Given the description of an element on the screen output the (x, y) to click on. 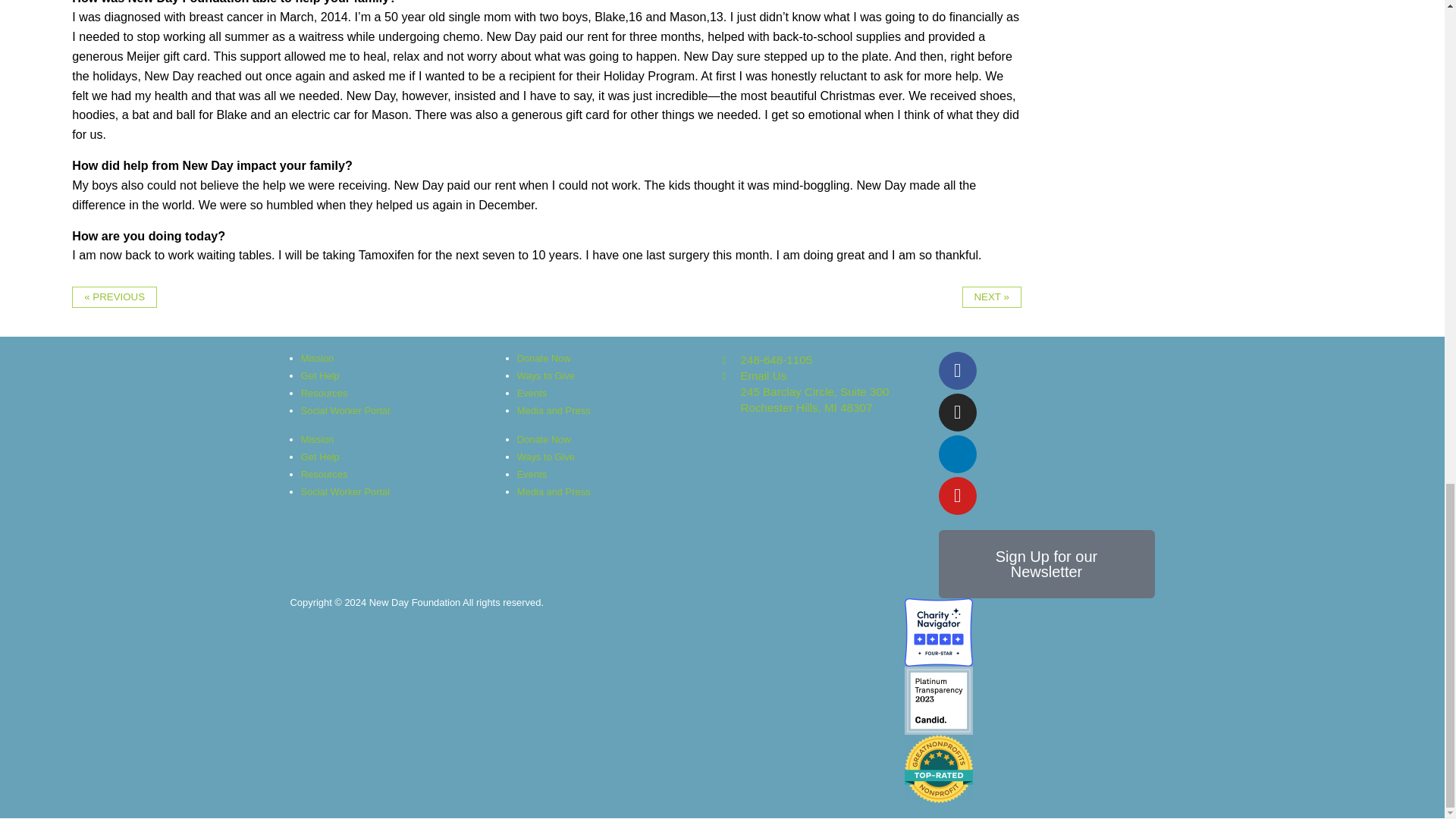
Email Us (829, 375)
Donate Now (543, 439)
Resources (324, 473)
candid-seal-platinum-2023 (938, 700)
Media and Press (553, 410)
Mission (317, 439)
248-648-1105 (829, 359)
Resources (324, 392)
Media and Press (553, 491)
Social Worker Portal (345, 410)
